Given the description of an element on the screen output the (x, y) to click on. 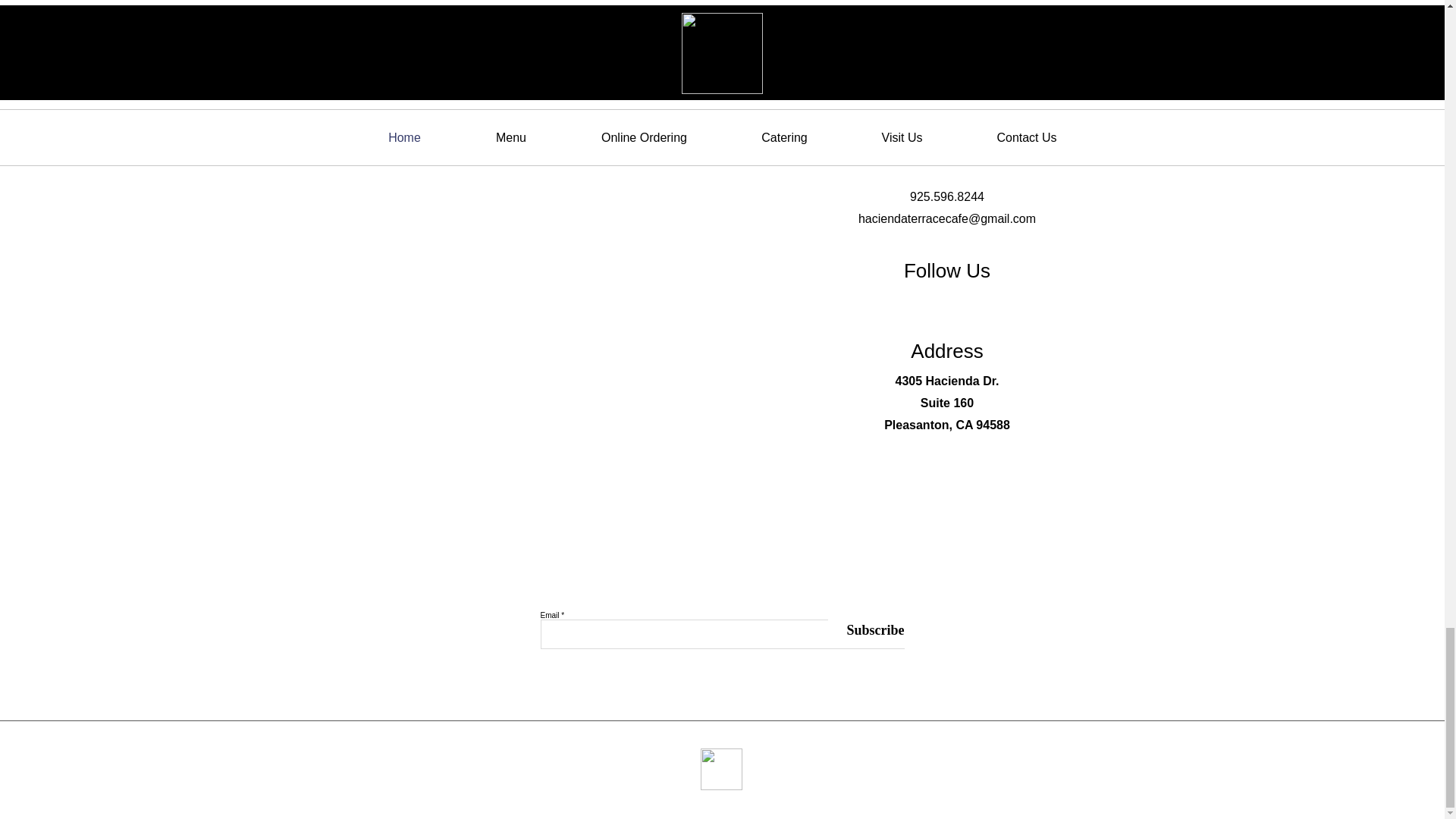
Subscribe (866, 630)
Logo 2.png (721, 769)
